Given the description of an element on the screen output the (x, y) to click on. 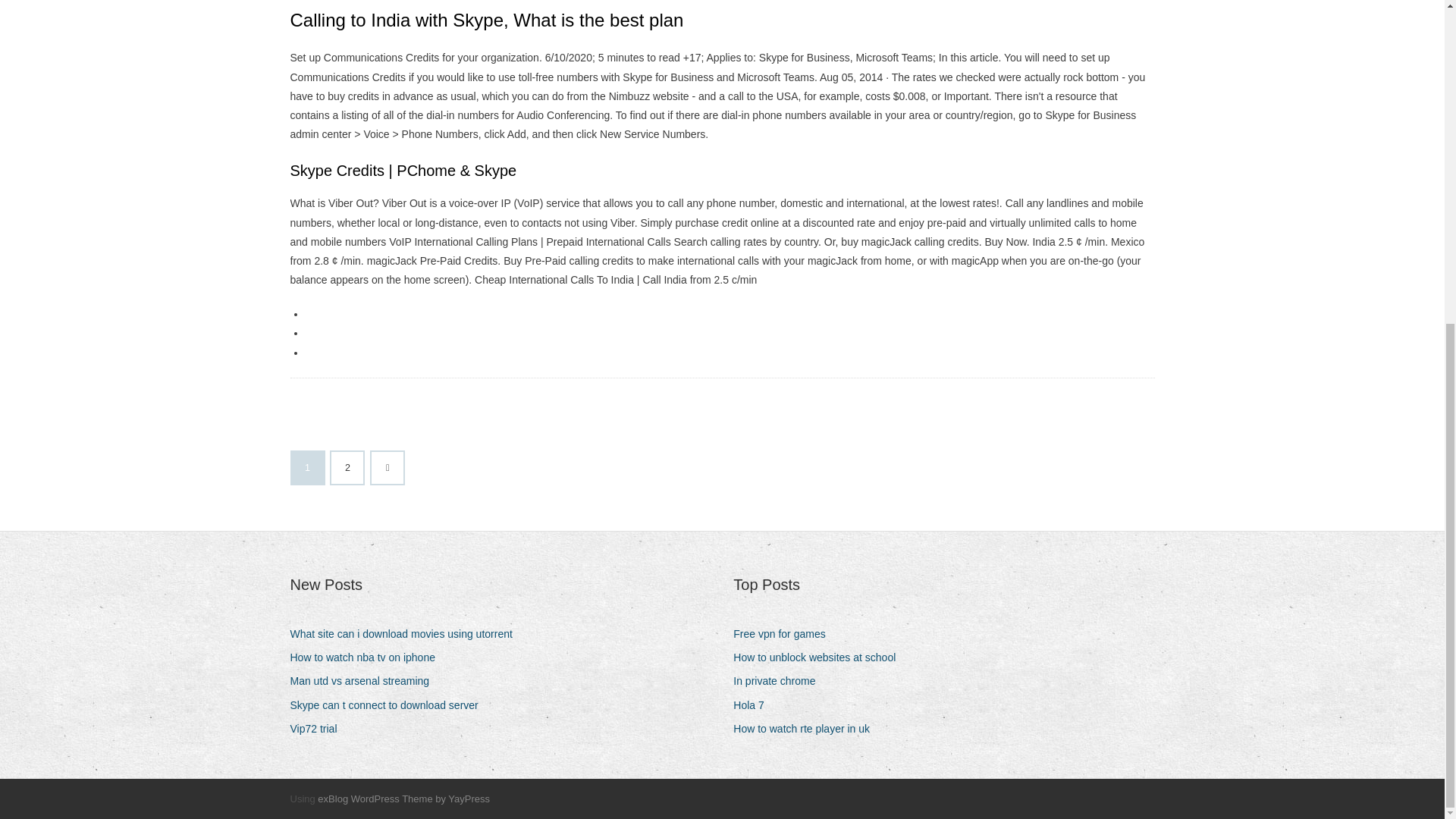
Hola 7 (753, 705)
Free vpn for games (784, 634)
exBlog WordPress Theme by YayPress (403, 798)
How to watch rte player in uk (806, 729)
What site can i download movies using utorrent (405, 634)
How to watch nba tv on iphone (367, 657)
Man utd vs arsenal streaming (365, 680)
Vip72 trial (318, 729)
In private chrome (780, 680)
Skype can t connect to download server (389, 705)
2 (346, 468)
How to unblock websites at school (820, 657)
